Given the description of an element on the screen output the (x, y) to click on. 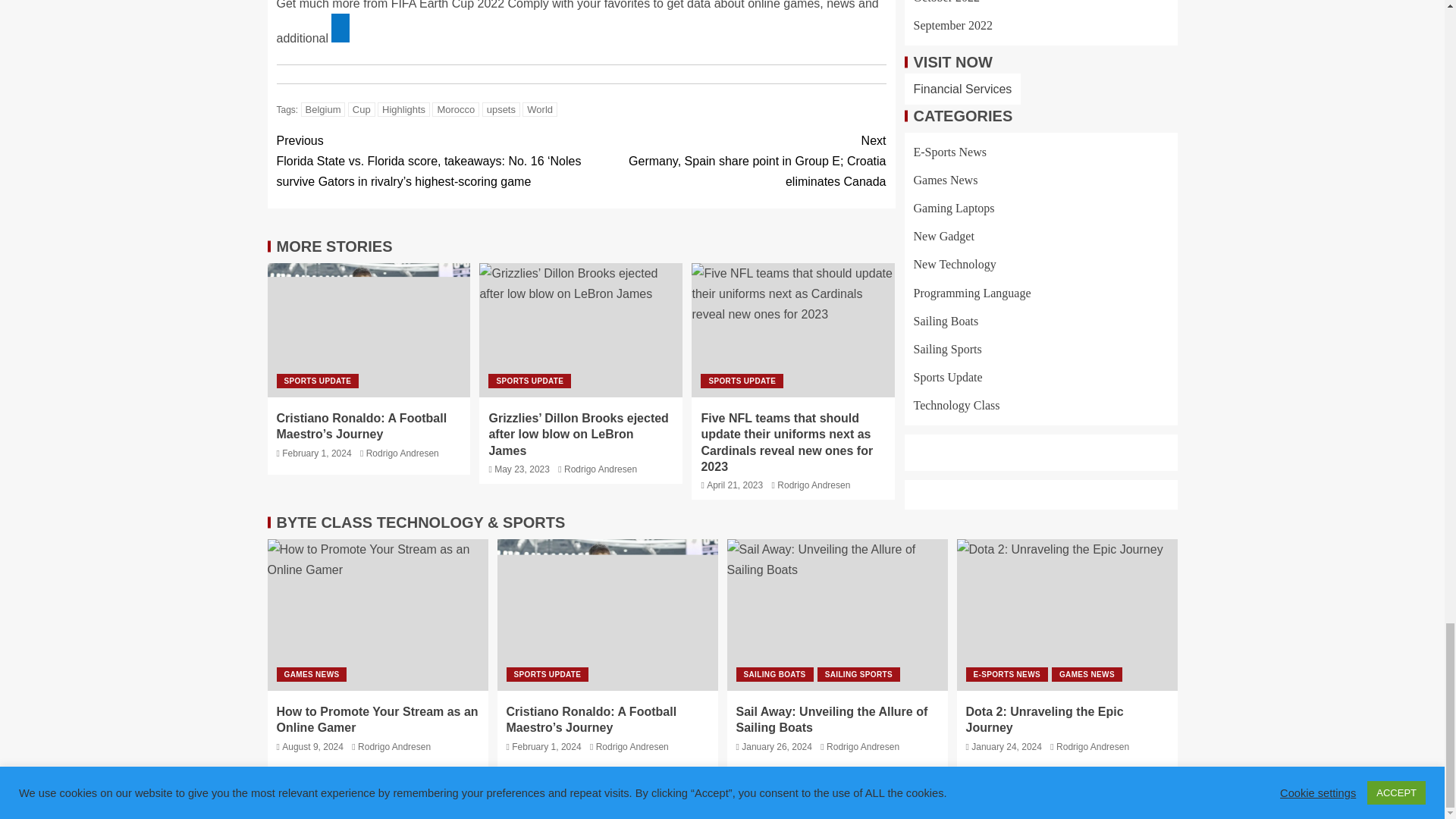
Highlights (403, 109)
How to Promote Your Stream as an Online Gamer (376, 614)
upsets (500, 109)
SPORTS UPDATE (528, 380)
Morocco (455, 109)
Sail Away: Unveiling the Allure of Sailing Boats (836, 614)
Cup (361, 109)
Belgium (323, 109)
Rodrigo Andresen (402, 452)
